Given the description of an element on the screen output the (x, y) to click on. 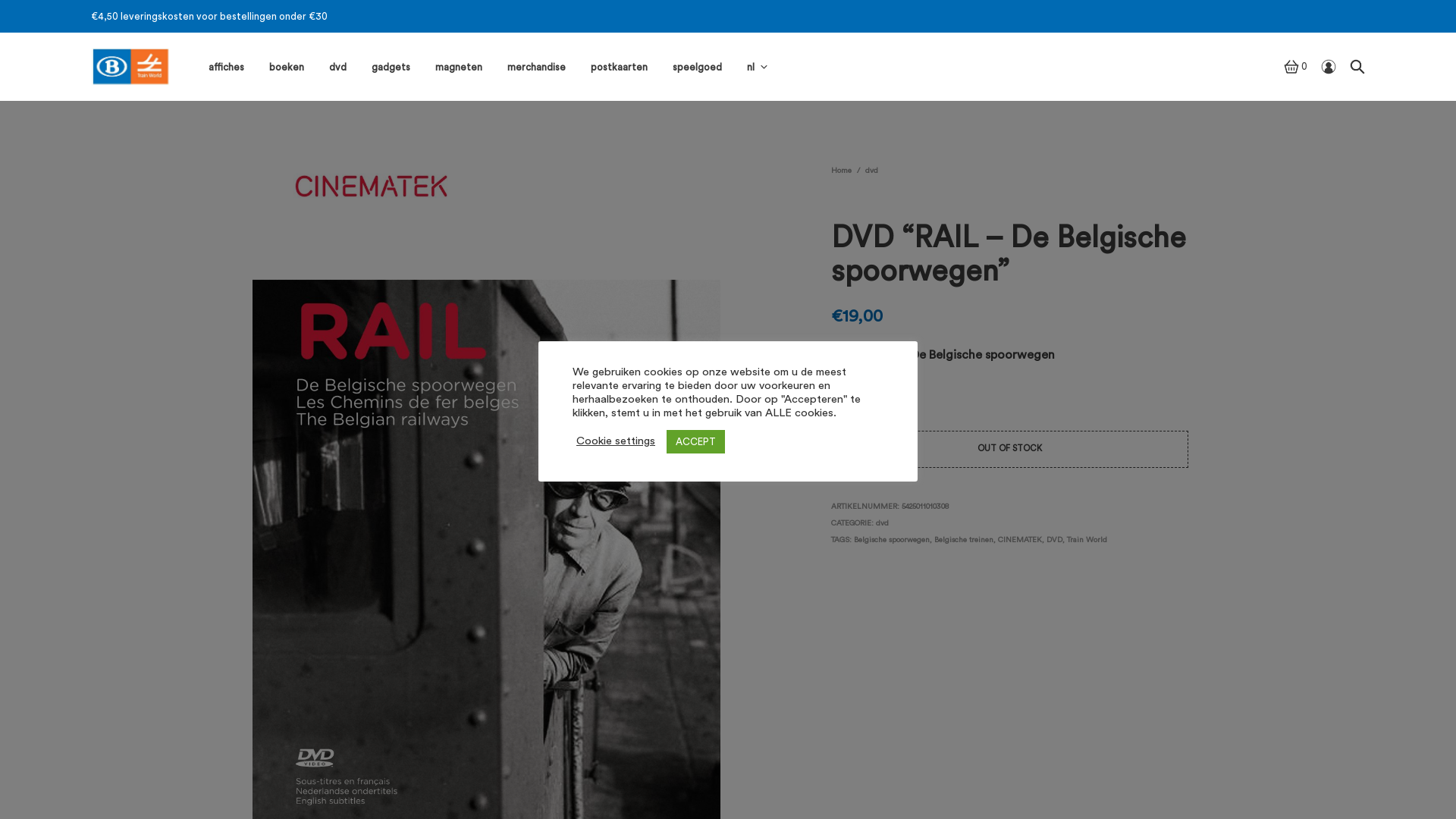
Belgische spoorwegen Element type: text (891, 539)
speelgoed Element type: text (697, 67)
dvd Element type: text (337, 67)
Cookie settings Element type: text (615, 441)
0 Element type: text (1295, 66)
gadgets Element type: text (390, 67)
boeken Element type: text (286, 67)
nl Element type: text (750, 67)
Belgische treinen Element type: text (963, 539)
dvd Element type: text (881, 523)
Home Element type: text (841, 170)
CINEMATEK Element type: text (1019, 539)
magneten Element type: text (458, 67)
affiches Element type: text (226, 67)
postkaarten Element type: text (618, 67)
DVD Element type: text (1054, 539)
dvd Element type: text (871, 170)
ACCEPT Element type: text (695, 440)
Train World Element type: text (1086, 539)
merchandise Element type: text (536, 67)
